Given the description of an element on the screen output the (x, y) to click on. 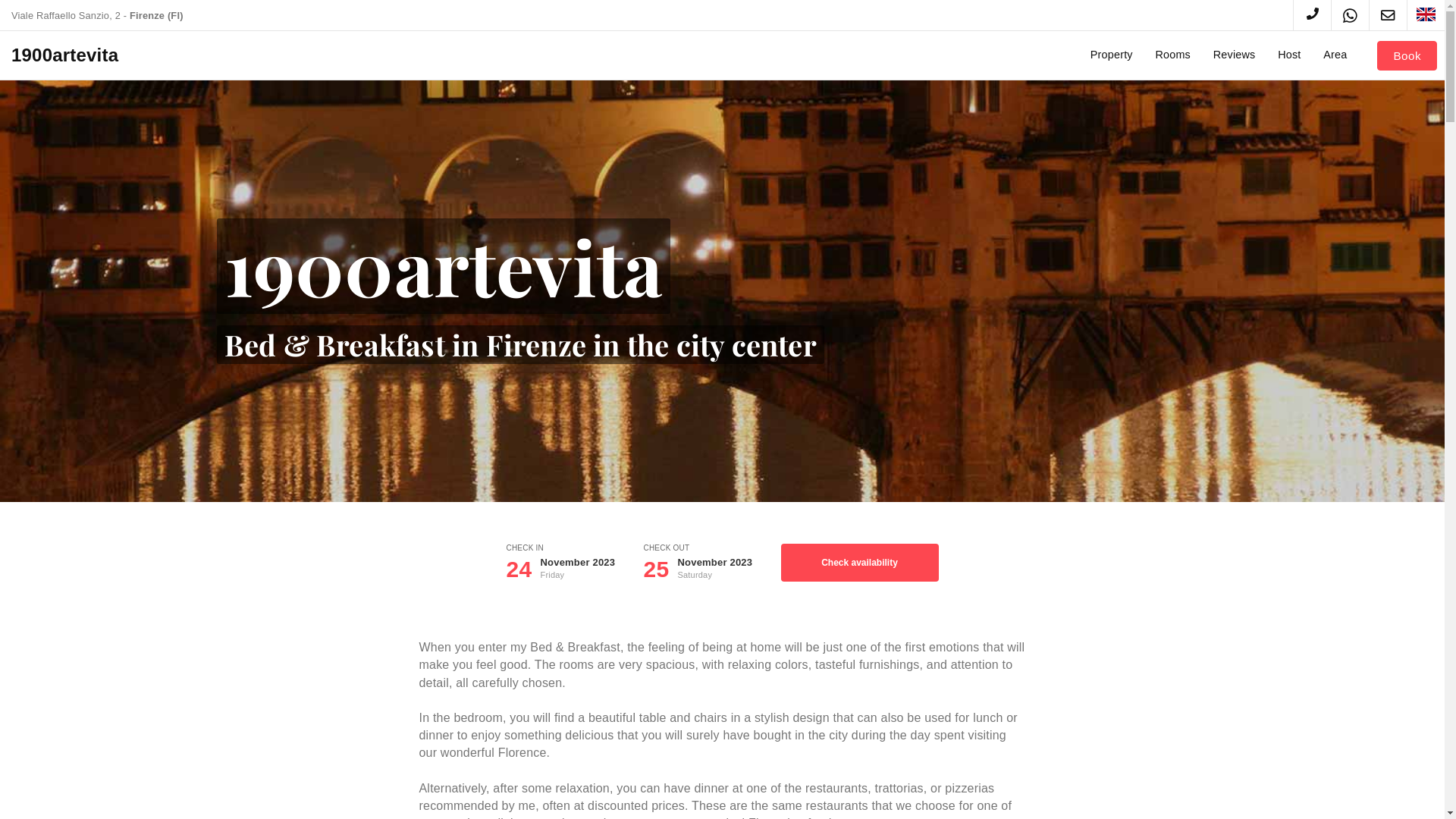
Book Element type: text (1407, 55)
Area Element type: text (1334, 64)
Property Element type: text (1111, 64)
1900artevita Element type: text (64, 55)
English Element type: hover (1425, 14)
Rooms Element type: text (1172, 64)
Reviews Element type: text (1234, 64)
CHECK OUT
25
November 2023
Saturday Element type: text (707, 562)
Host Element type: text (1288, 64)
Check availability Element type: text (859, 562)
CHECK IN
24
November 2023
Friday Element type: text (571, 562)
